Given the description of an element on the screen output the (x, y) to click on. 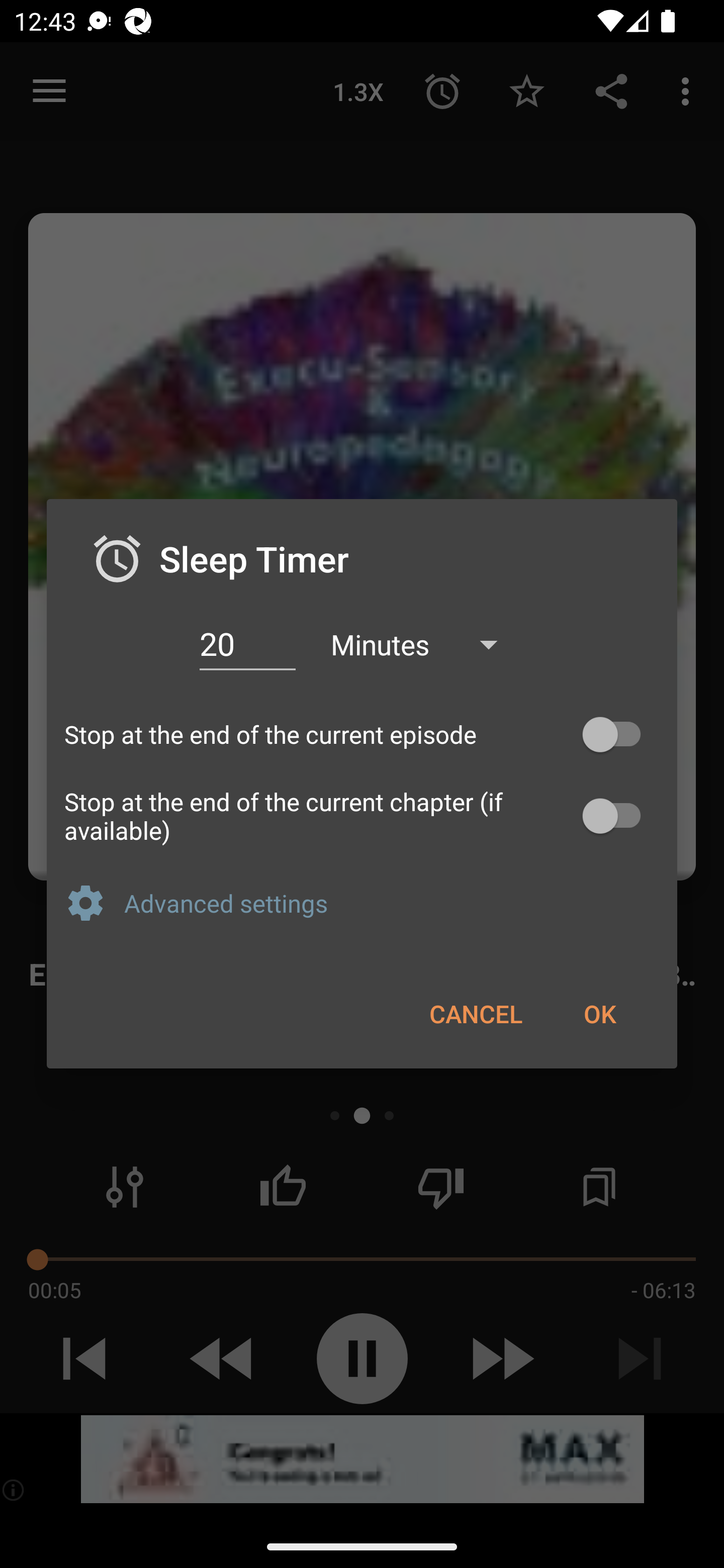
20 (247, 644)
Minutes (423, 643)
Stop at the end of the current episode (361, 734)
Advanced settings (391, 902)
CANCEL (475, 1013)
OK (599, 1013)
